Given the description of an element on the screen output the (x, y) to click on. 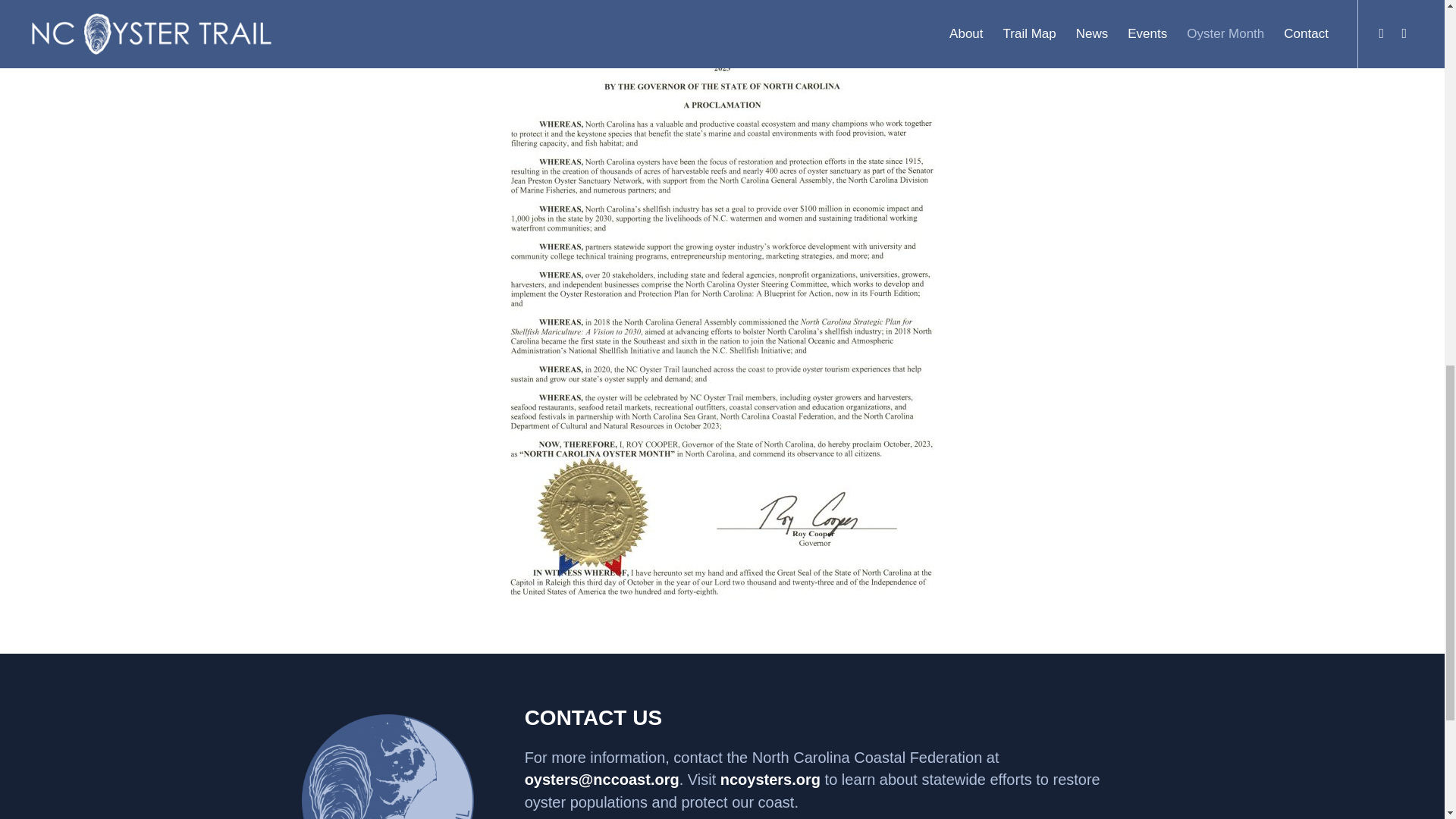
ncoysters.org (770, 779)
